Given the description of an element on the screen output the (x, y) to click on. 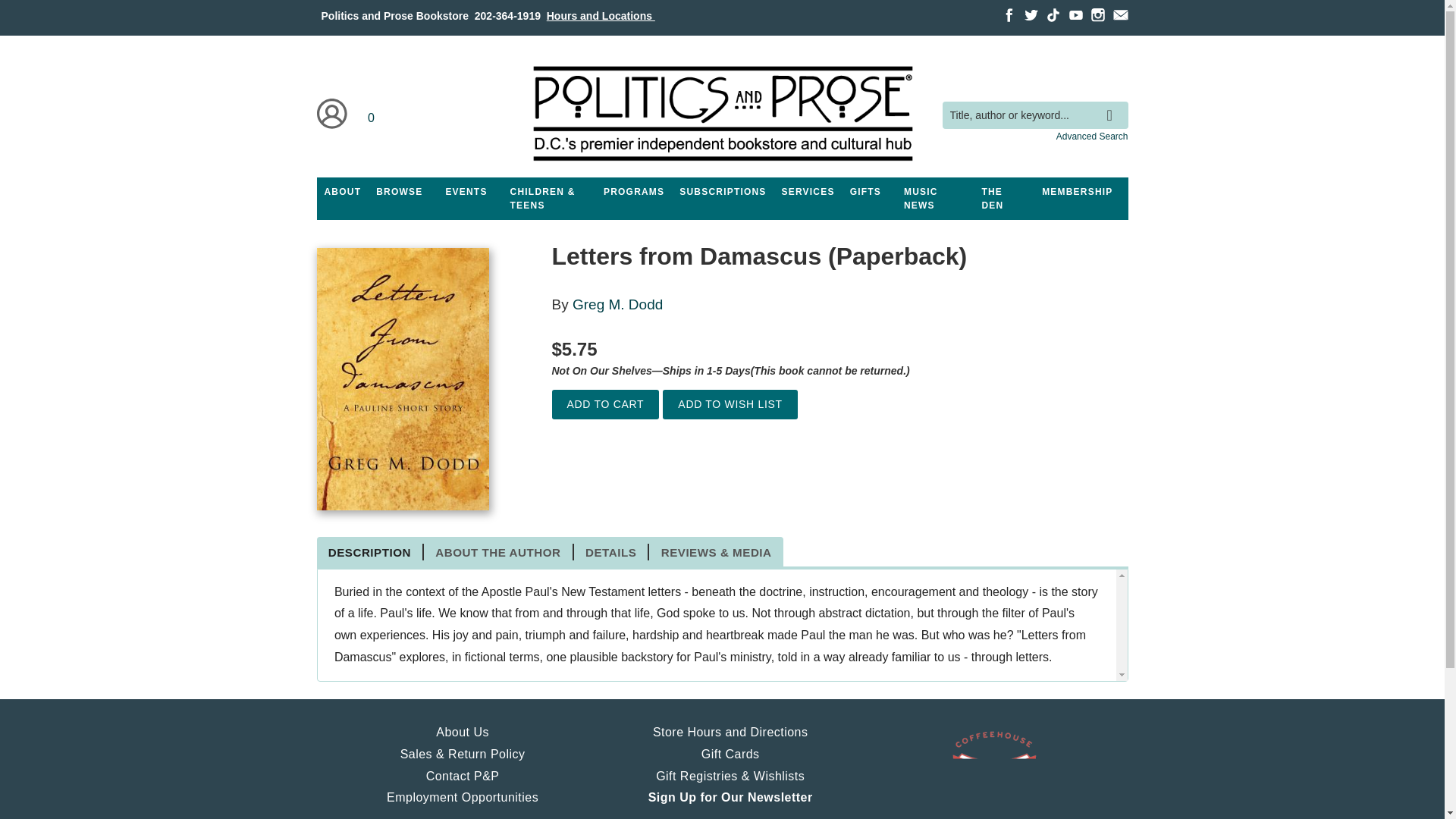
Home (721, 114)
PROGRAMS (633, 191)
SERVICES (808, 191)
EVENTS (465, 191)
Advanced Search (1092, 136)
Title, author or keyword... (1034, 115)
See information about our programs (633, 191)
Add to Cart (605, 404)
Children and Teens Department (548, 198)
ABOUT (343, 191)
